Given the description of an element on the screen output the (x, y) to click on. 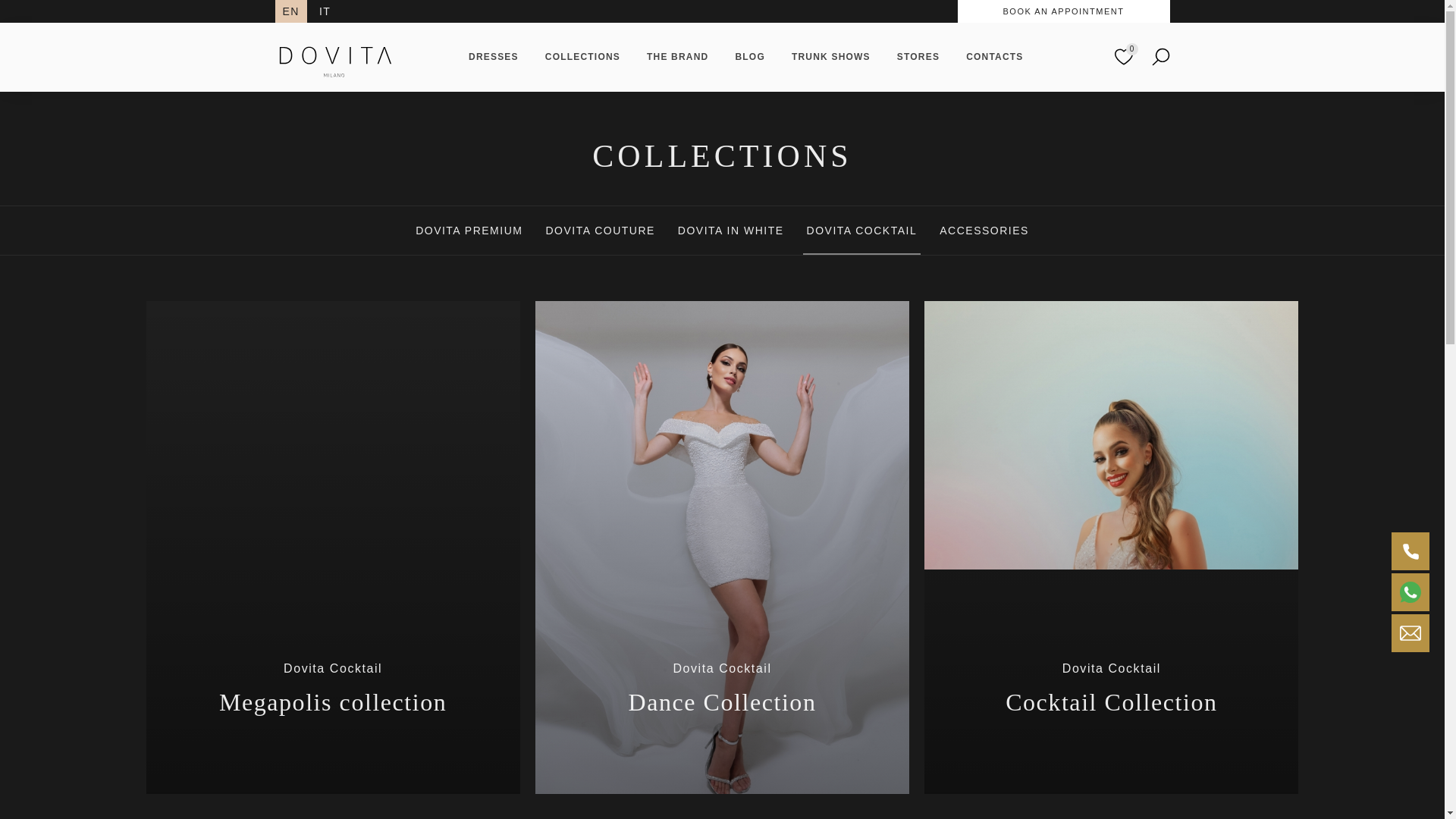
DRESSES (493, 56)
COLLECTIONS (582, 56)
CONTACTS (994, 56)
BOOK AN APPOINTMENT (1063, 11)
ACCESSORIES (984, 230)
DOVITA IN WHITE (730, 230)
STORES (917, 56)
DOVITA COCKTAIL (862, 230)
DOVITA PREMIUM (468, 230)
BLOG (749, 56)
